Given the description of an element on the screen output the (x, y) to click on. 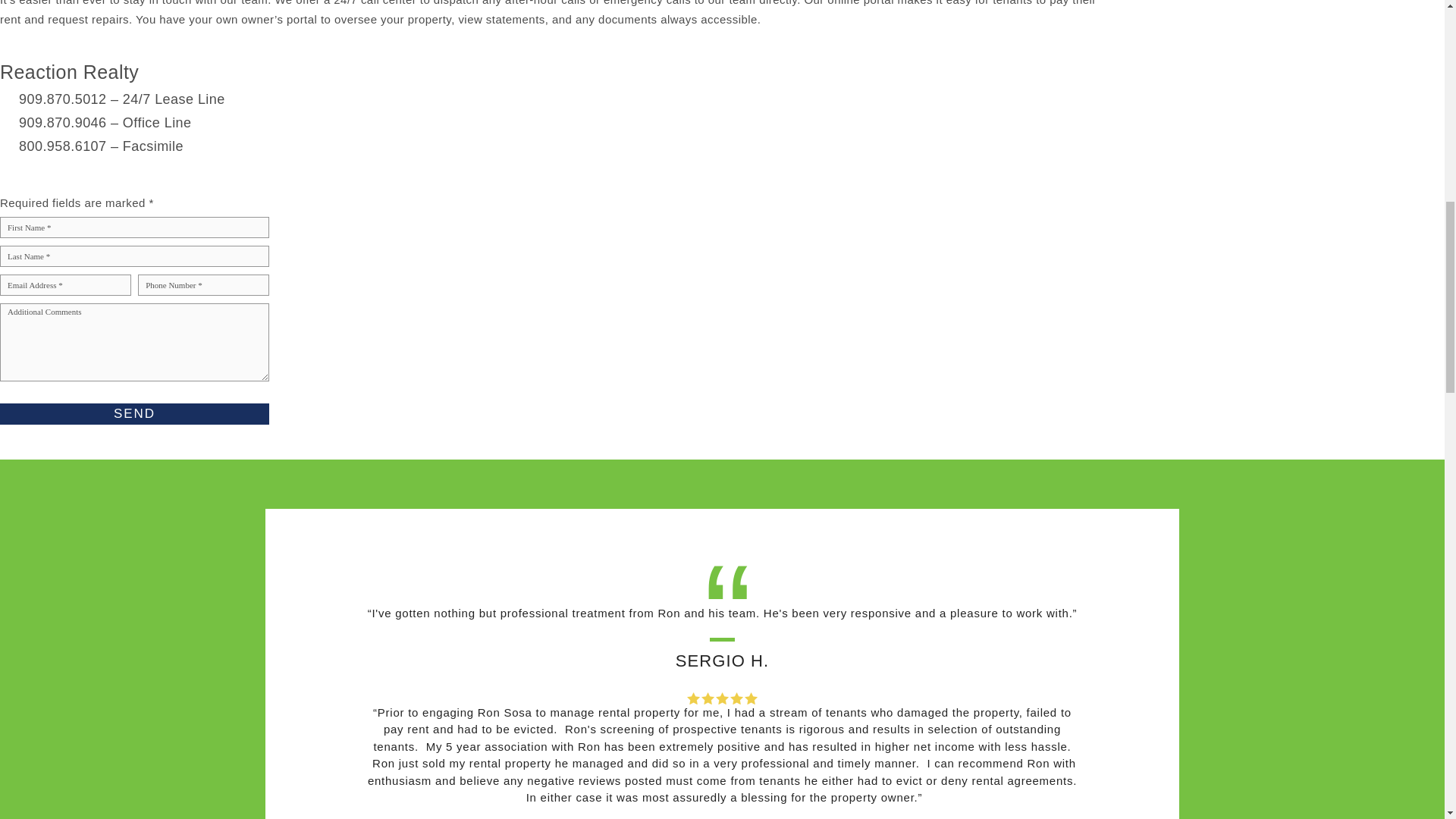
Send (134, 414)
